Given the description of an element on the screen output the (x, y) to click on. 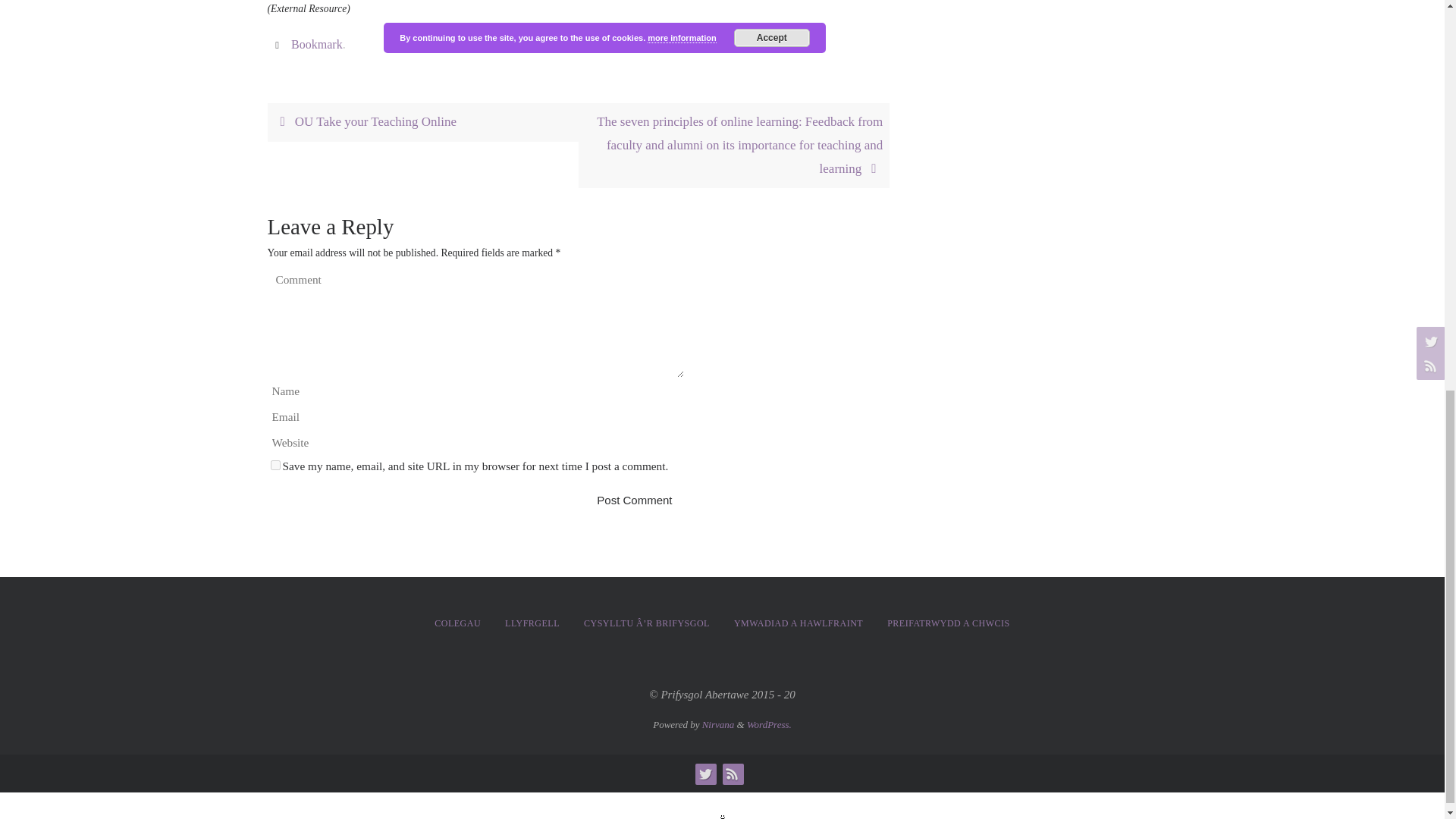
RSS (731, 772)
Post Comment (634, 500)
Twitter (704, 772)
Permalink to Open Learn Getting Started with Online Learning (316, 44)
Nirvana Theme by Cryout Creations (718, 724)
 Bookmark the permalink (278, 43)
Semantic Personal Publishing Platform (769, 724)
yes (274, 465)
